Given the description of an element on the screen output the (x, y) to click on. 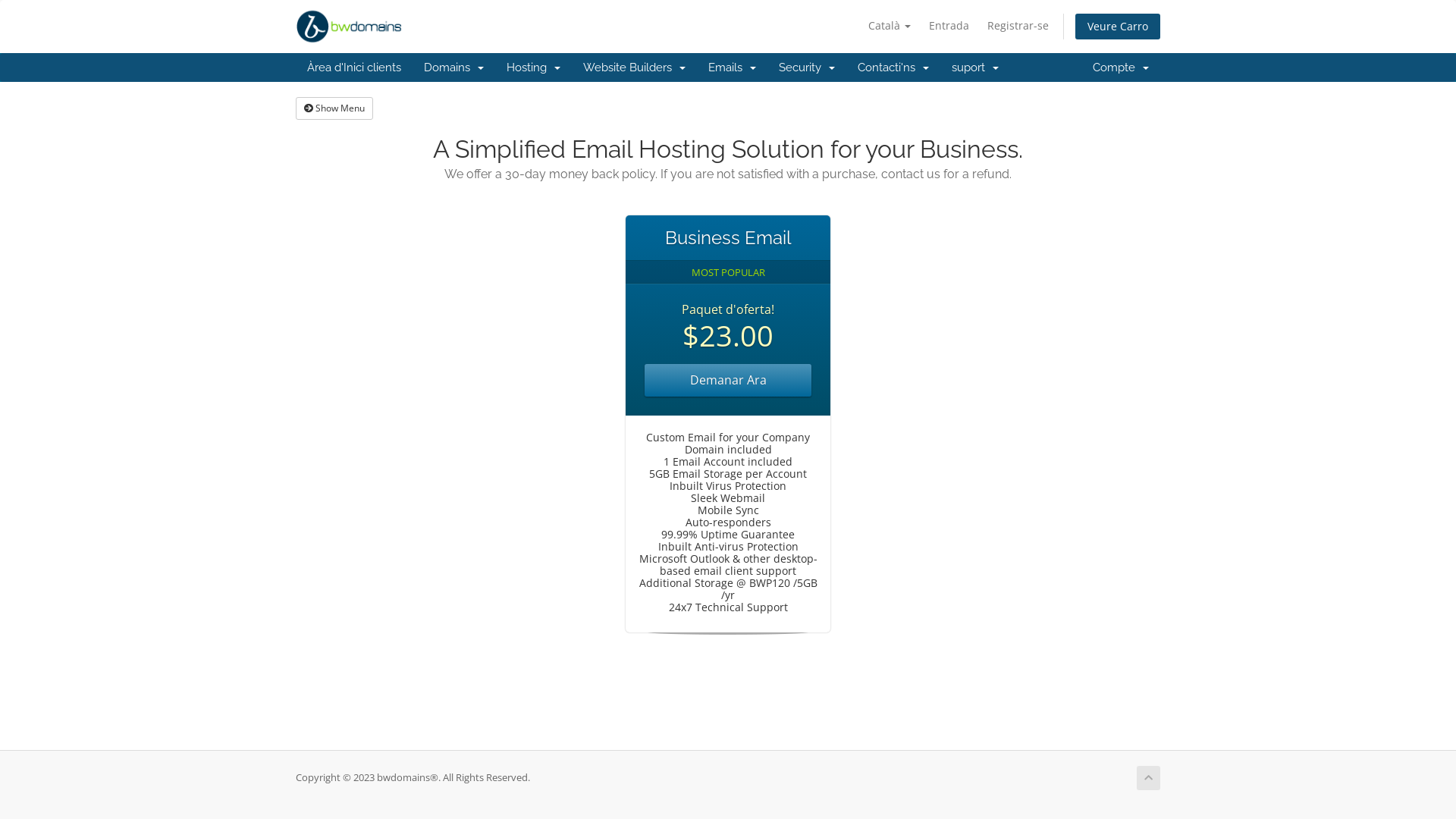
Website Builders   Element type: text (633, 67)
Contacti'ns   Element type: text (893, 67)
Registrar-se Element type: text (1017, 25)
Compte   Element type: text (1120, 67)
Show Menu Element type: text (334, 108)
Security   Element type: text (806, 67)
Hosting   Element type: text (533, 67)
Entrada Element type: text (948, 25)
Emails   Element type: text (731, 67)
Veure Carro Element type: text (1117, 26)
suport   Element type: text (975, 67)
Domains   Element type: text (453, 67)
Demanar Ara Element type: text (727, 380)
